Given the description of an element on the screen output the (x, y) to click on. 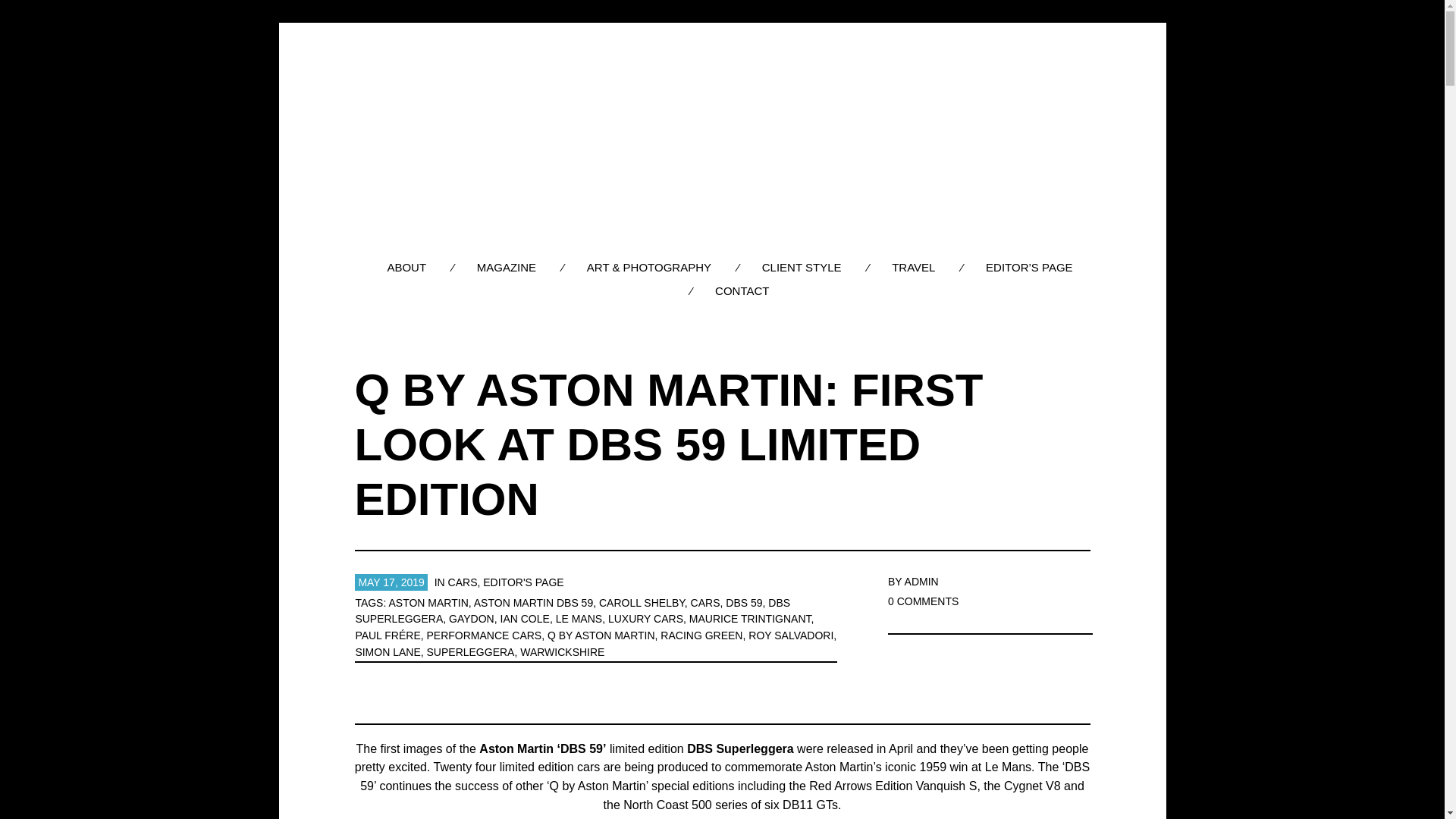
Home (721, 138)
ASTON MARTIN (427, 603)
LUXURY CARS (645, 618)
CONTACT (741, 290)
RACING GREEN (701, 635)
CARS (462, 582)
CAROLL SHELBY (641, 603)
TRAVEL (913, 267)
GAYDON (471, 618)
SKIP TO CONTENT (733, 257)
